Given the description of an element on the screen output the (x, y) to click on. 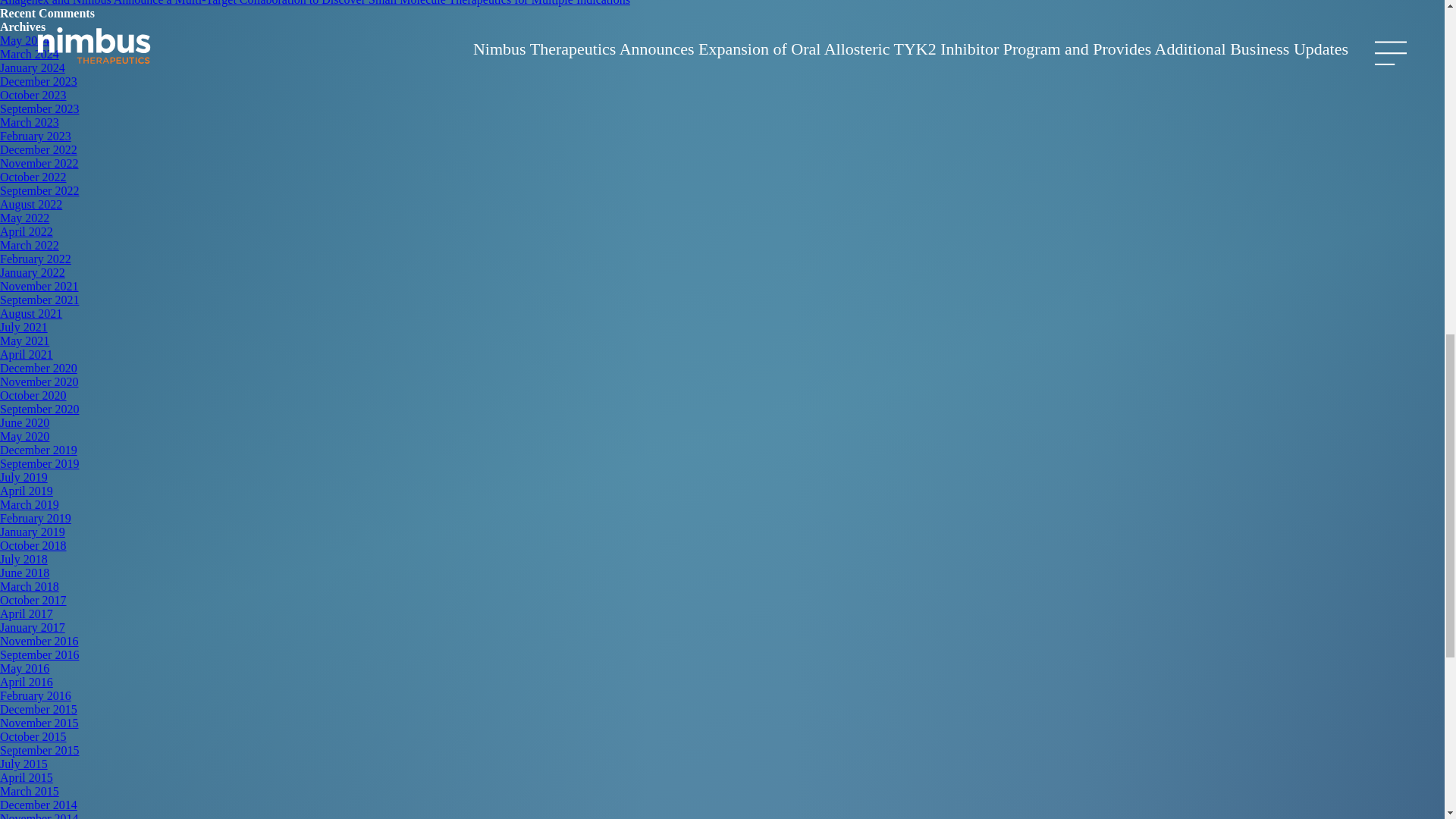
October 2023 (33, 94)
January 2024 (32, 67)
May 2024 (24, 40)
December 2023 (38, 81)
March 2024 (29, 53)
